Given the description of an element on the screen output the (x, y) to click on. 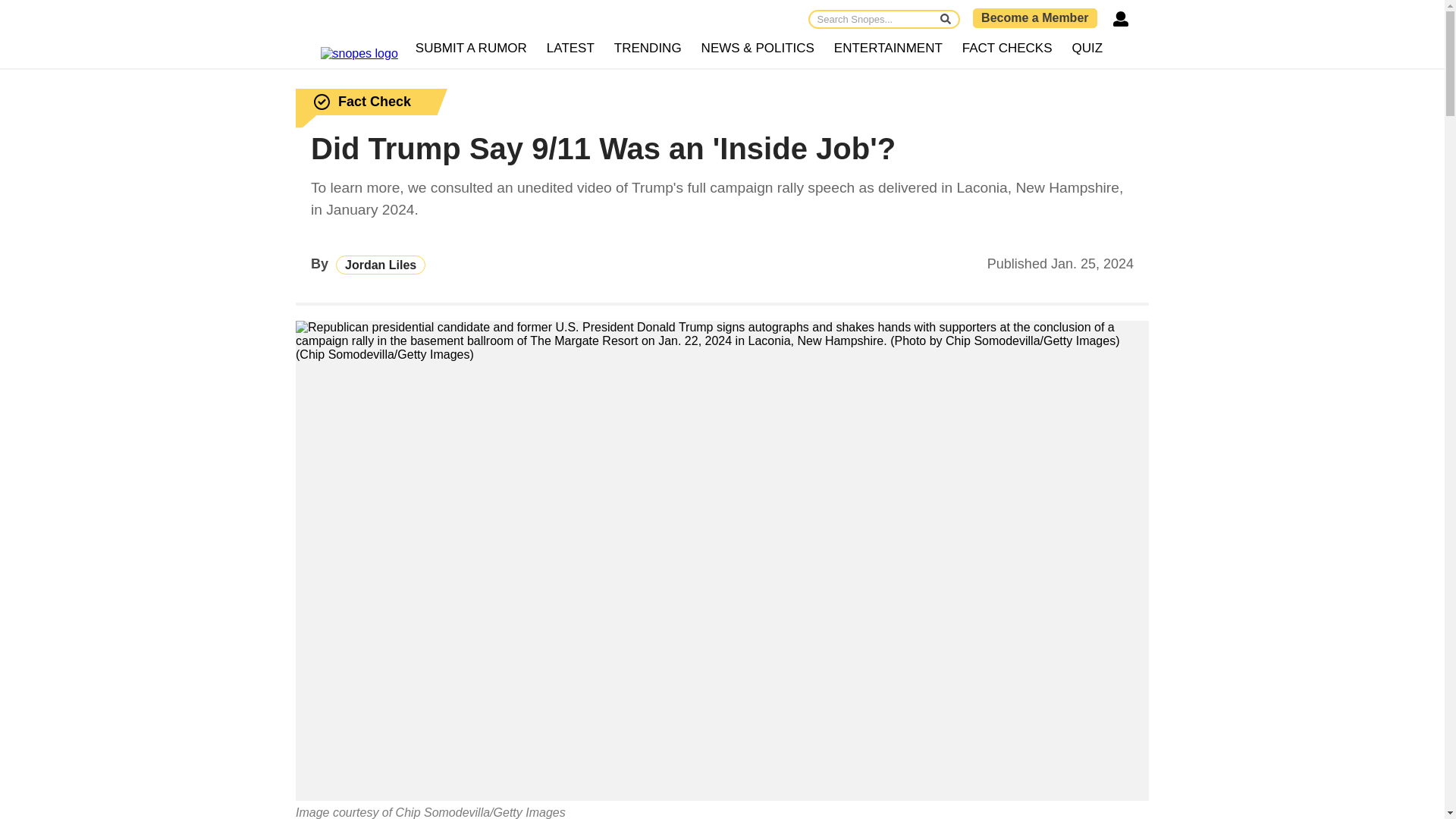
FACT CHECKS (1007, 47)
Jordan Liles (380, 264)
Become a Member (1034, 17)
QUIZ (1087, 47)
TRENDING (647, 47)
LATEST (570, 47)
ENTERTAINMENT (887, 47)
SUBMIT A RUMOR (471, 47)
